Given the description of an element on the screen output the (x, y) to click on. 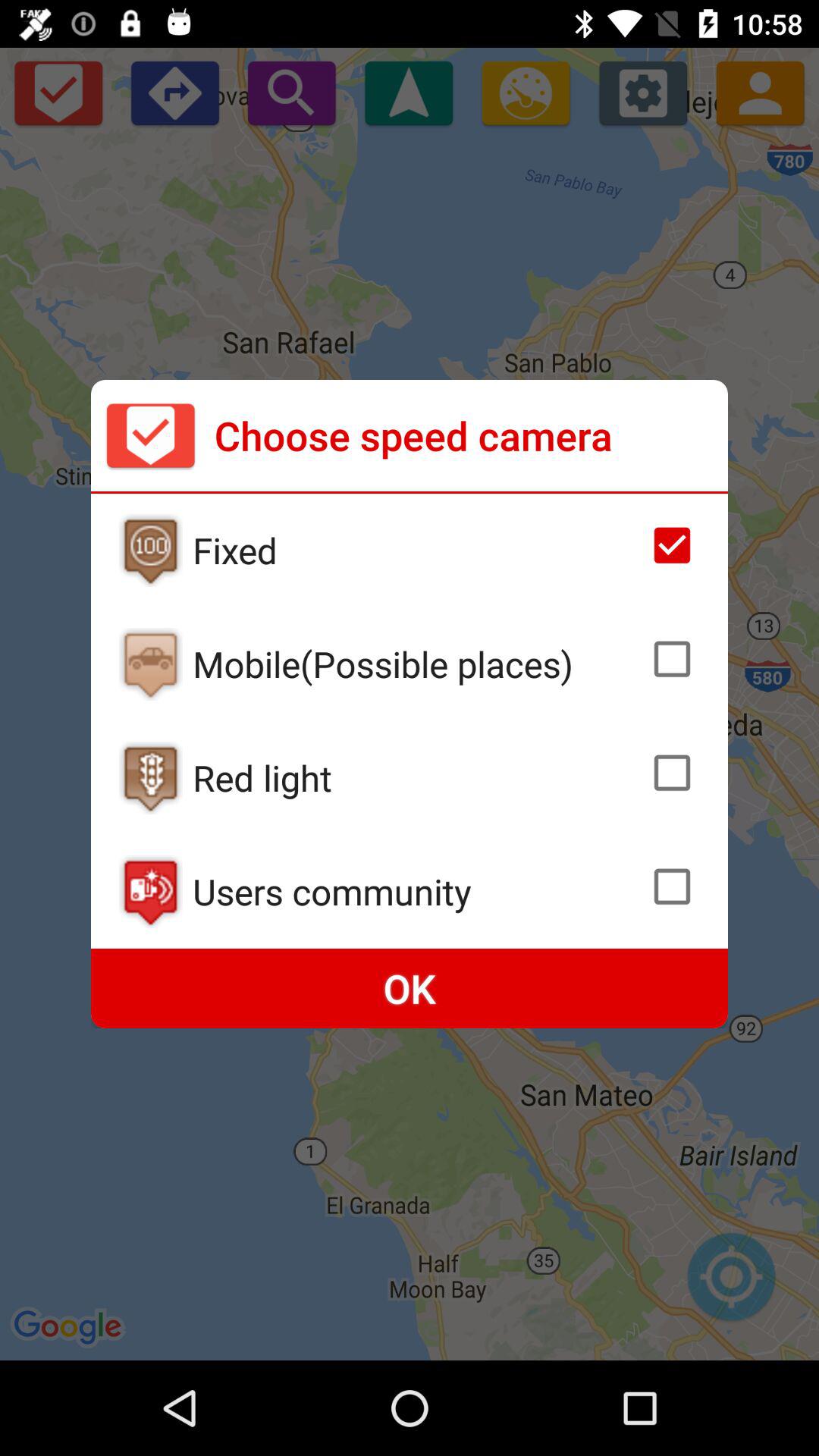
scroll until the fixed item (416, 550)
